Given the description of an element on the screen output the (x, y) to click on. 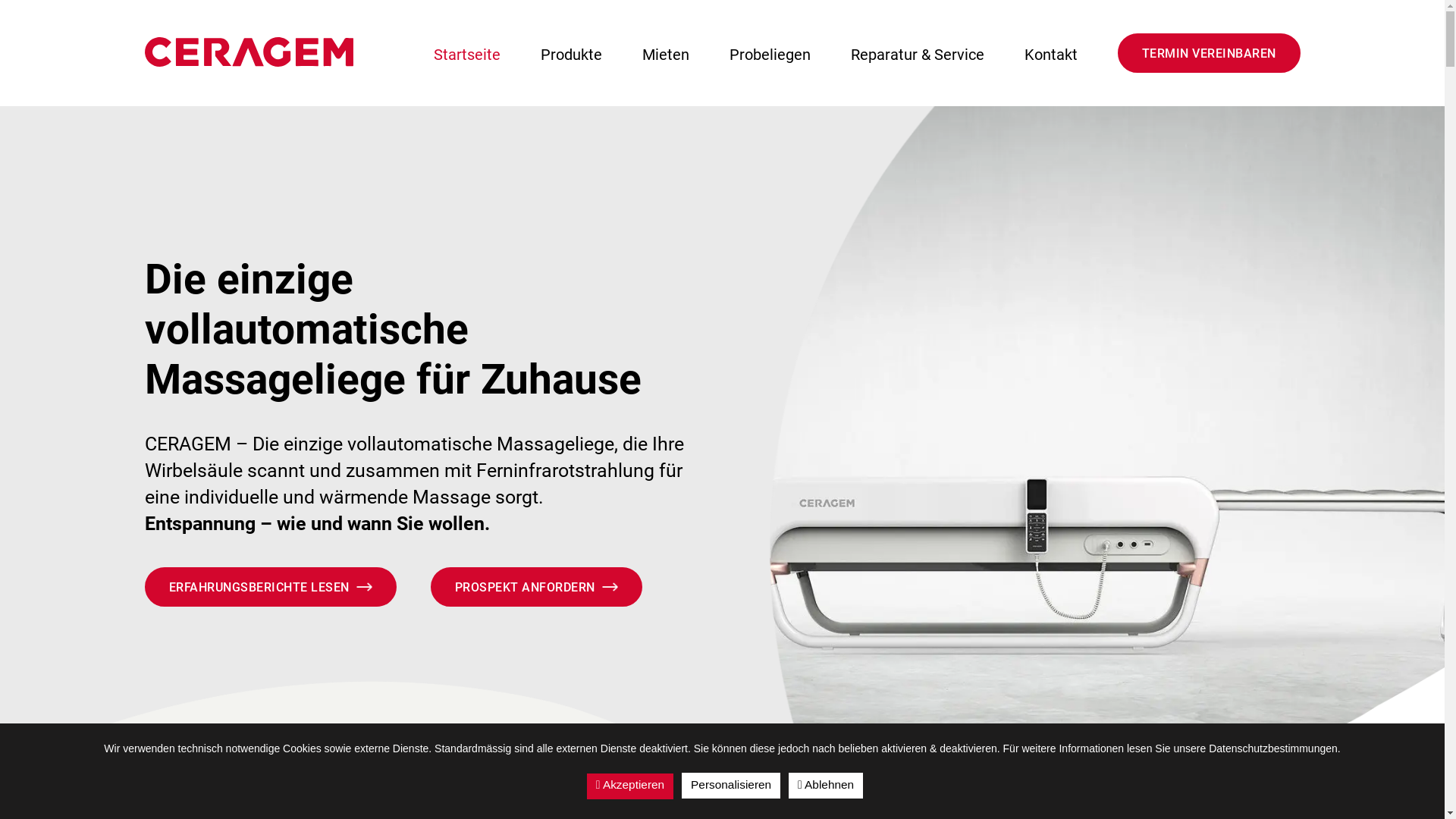
TERMIN VEREINBAREN Element type: text (1209, 53)
Kontakt Element type: text (1049, 54)
Mieten Element type: text (664, 54)
Personalisieren Element type: text (730, 785)
Reparatur & Service Element type: text (917, 54)
PROSPEKT ANFORDERN Element type: text (536, 586)
Produkte Element type: text (570, 54)
Probeliegen Element type: text (769, 54)
ERFAHRUNGSBERICHTE LESEN Element type: text (269, 586)
Startseite Element type: text (466, 54)
